Given the description of an element on the screen output the (x, y) to click on. 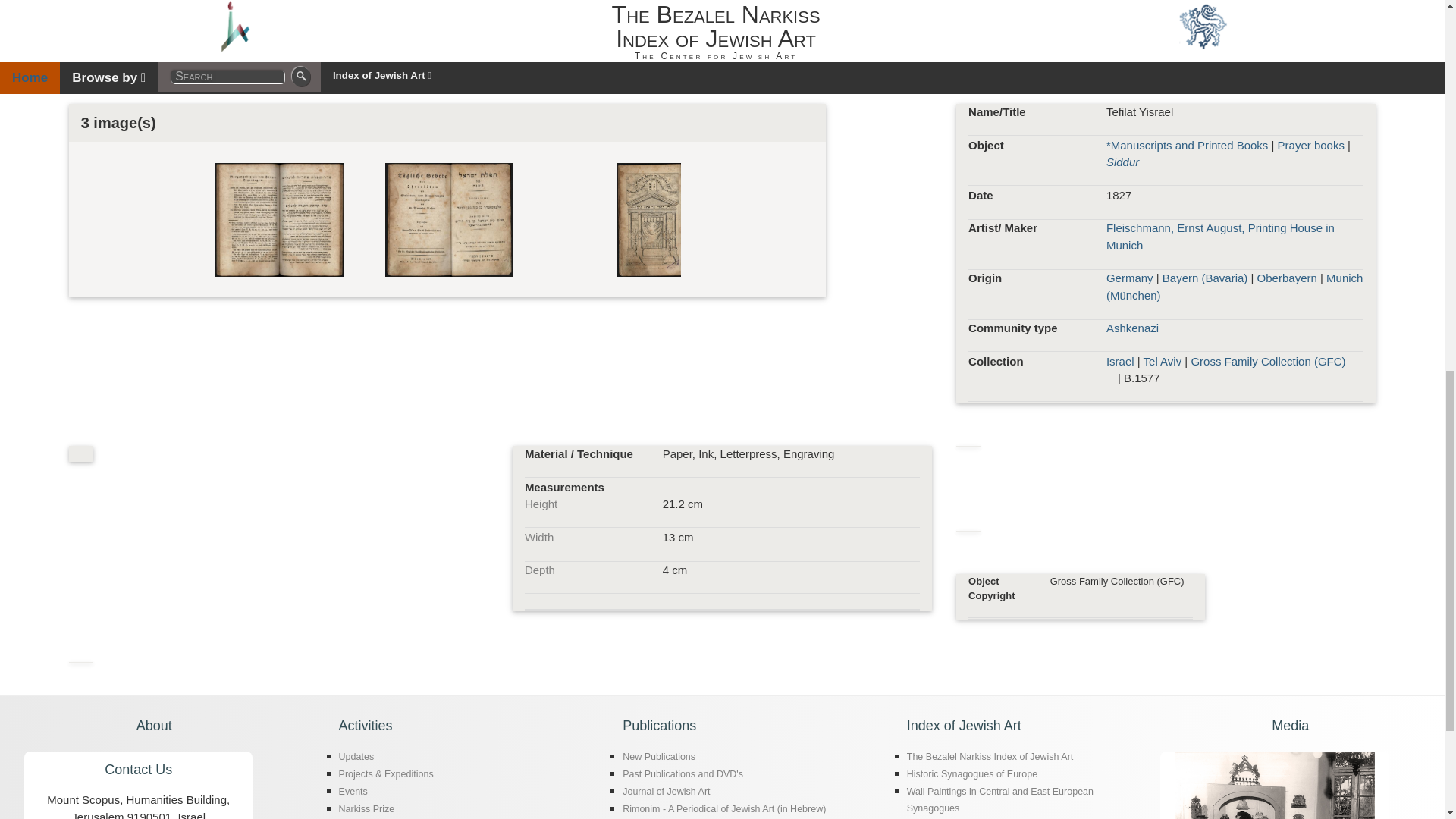
Germany (1129, 277)
Fleischmann, Ernst August, Printing House in Munich (1220, 236)
Siddur (1122, 161)
Prayer books (1310, 144)
Oberbayern (1287, 277)
